Given the description of an element on the screen output the (x, y) to click on. 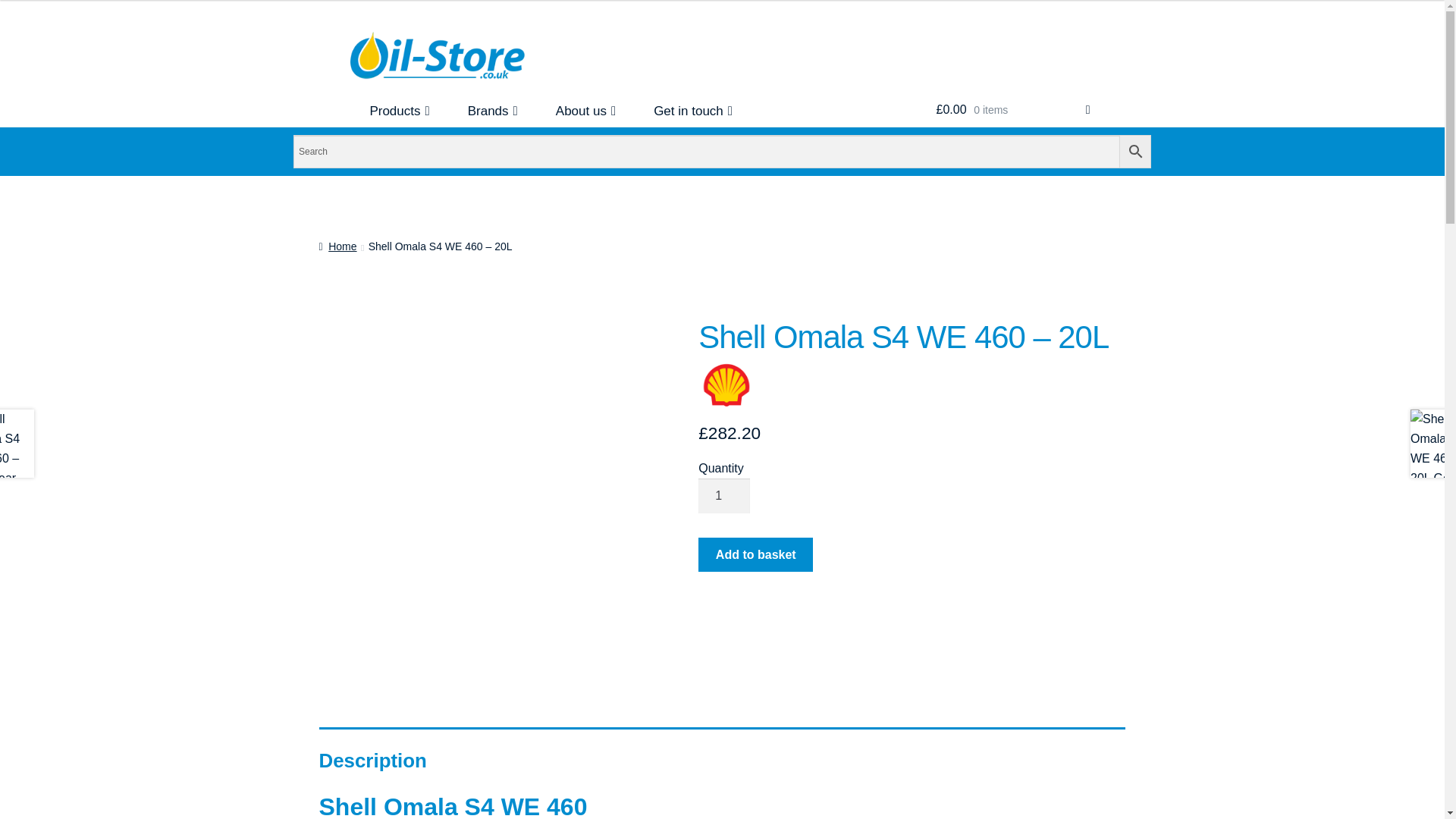
Products (399, 111)
View your shopping basket (1013, 109)
1 (723, 495)
